Given the description of an element on the screen output the (x, y) to click on. 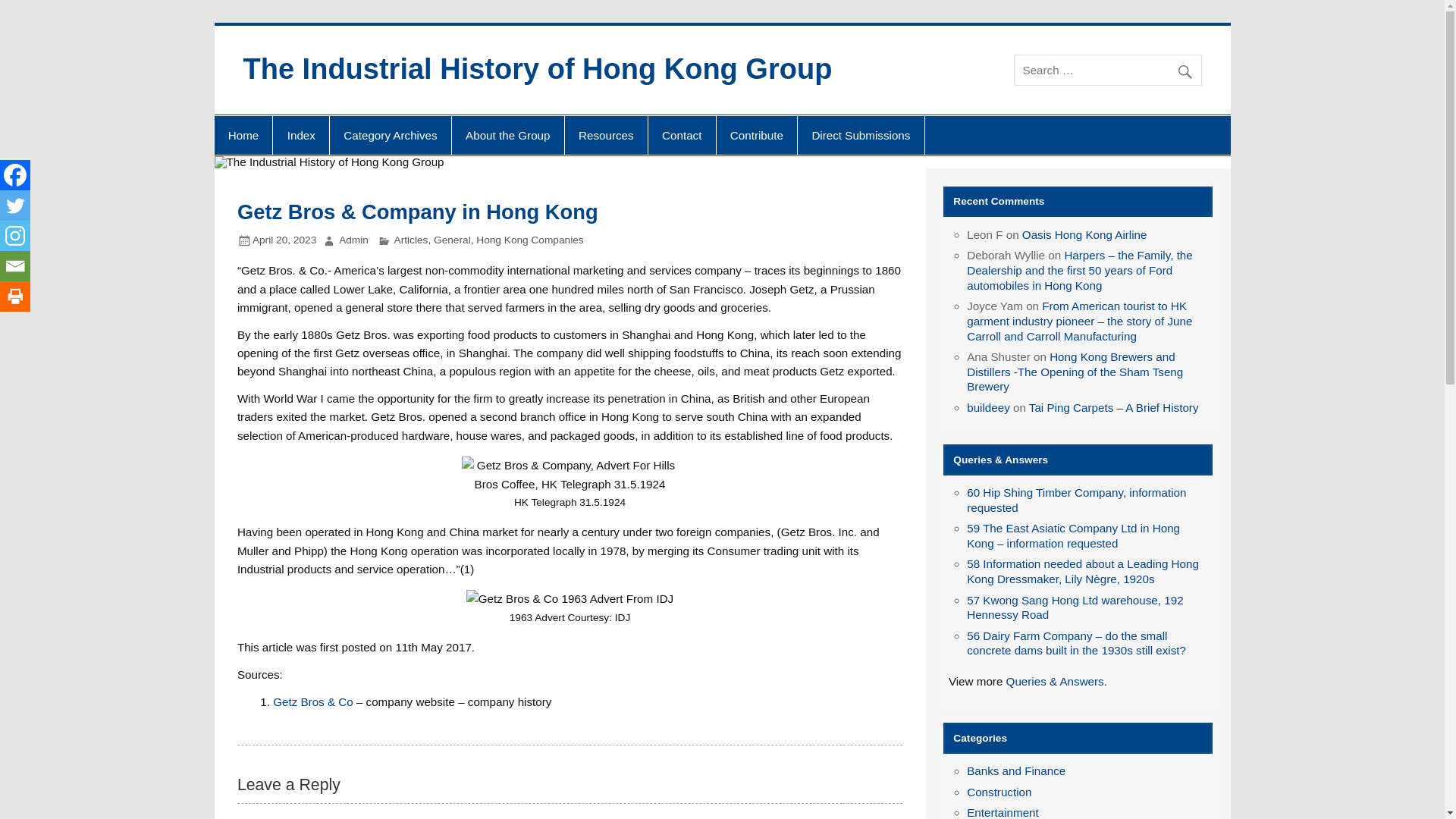
Direct Submissions (860, 135)
Facebook (15, 174)
60 Hip Shing Timber Company, information requested (1076, 500)
Email (15, 265)
The Industrial History of Hong Kong Group (537, 69)
57 Kwong Sang Hong Ltd warehouse, 192 Hennessy Road (1074, 606)
Hong Kong Companies (529, 239)
Contact (681, 135)
About the Group (507, 135)
Admin (353, 239)
Twitter (15, 205)
Articles (411, 239)
View all posts filed under Construction (998, 791)
Index (301, 135)
